Given the description of an element on the screen output the (x, y) to click on. 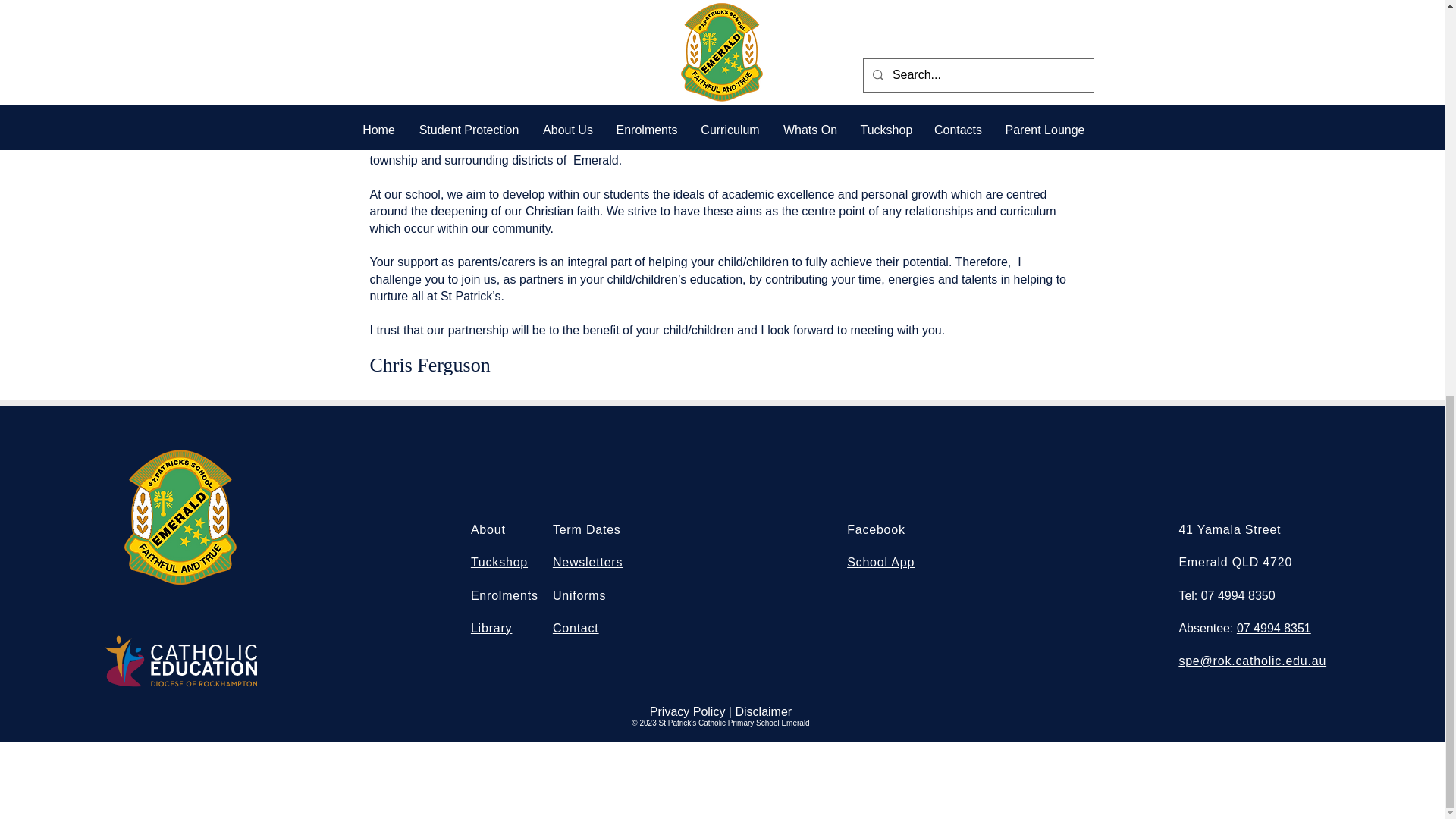
Enrolments (504, 594)
About (487, 529)
Term Dates (587, 529)
Library (491, 627)
Tuckshop (498, 562)
